Given the description of an element on the screen output the (x, y) to click on. 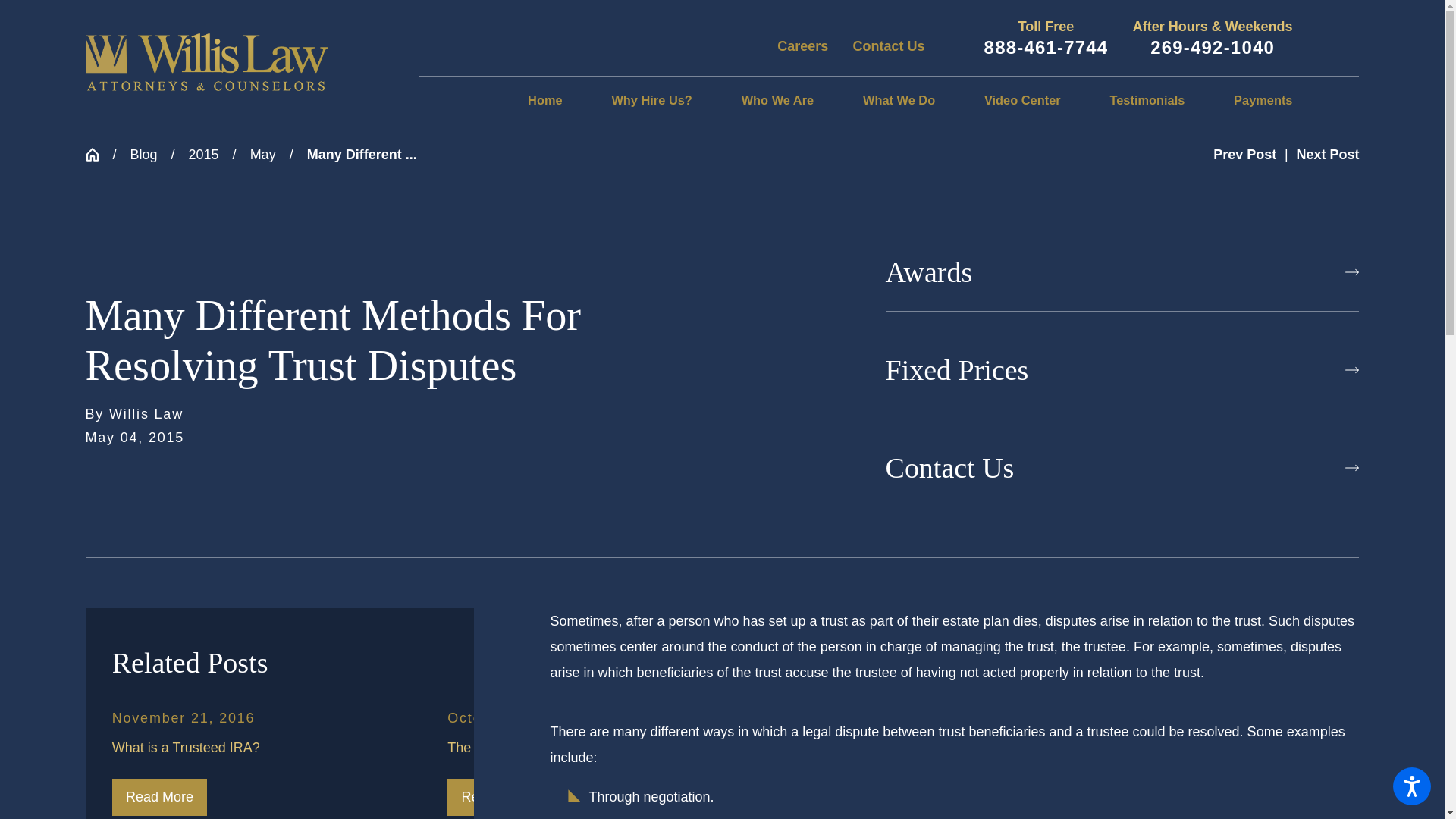
888-461-7744 (1046, 47)
Contact Us (888, 46)
Open the accessibility options menu (1412, 786)
Careers (802, 46)
269-492-1040 (1212, 47)
Willis Law (205, 61)
Go Home (98, 154)
Why Hire Us? (651, 100)
Who We Are (777, 100)
